Given the description of an element on the screen output the (x, y) to click on. 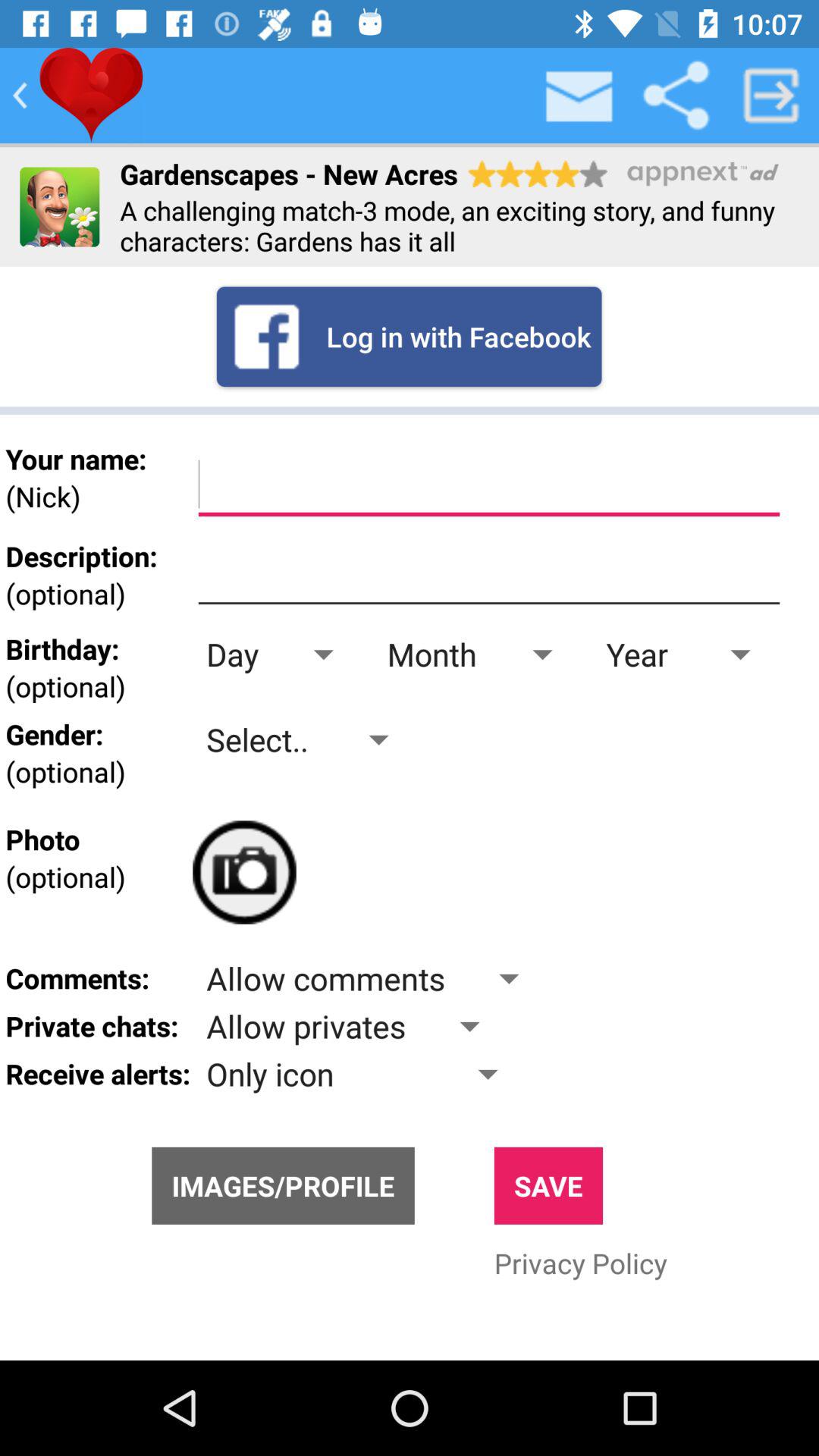
go to next (771, 95)
